Given the description of an element on the screen output the (x, y) to click on. 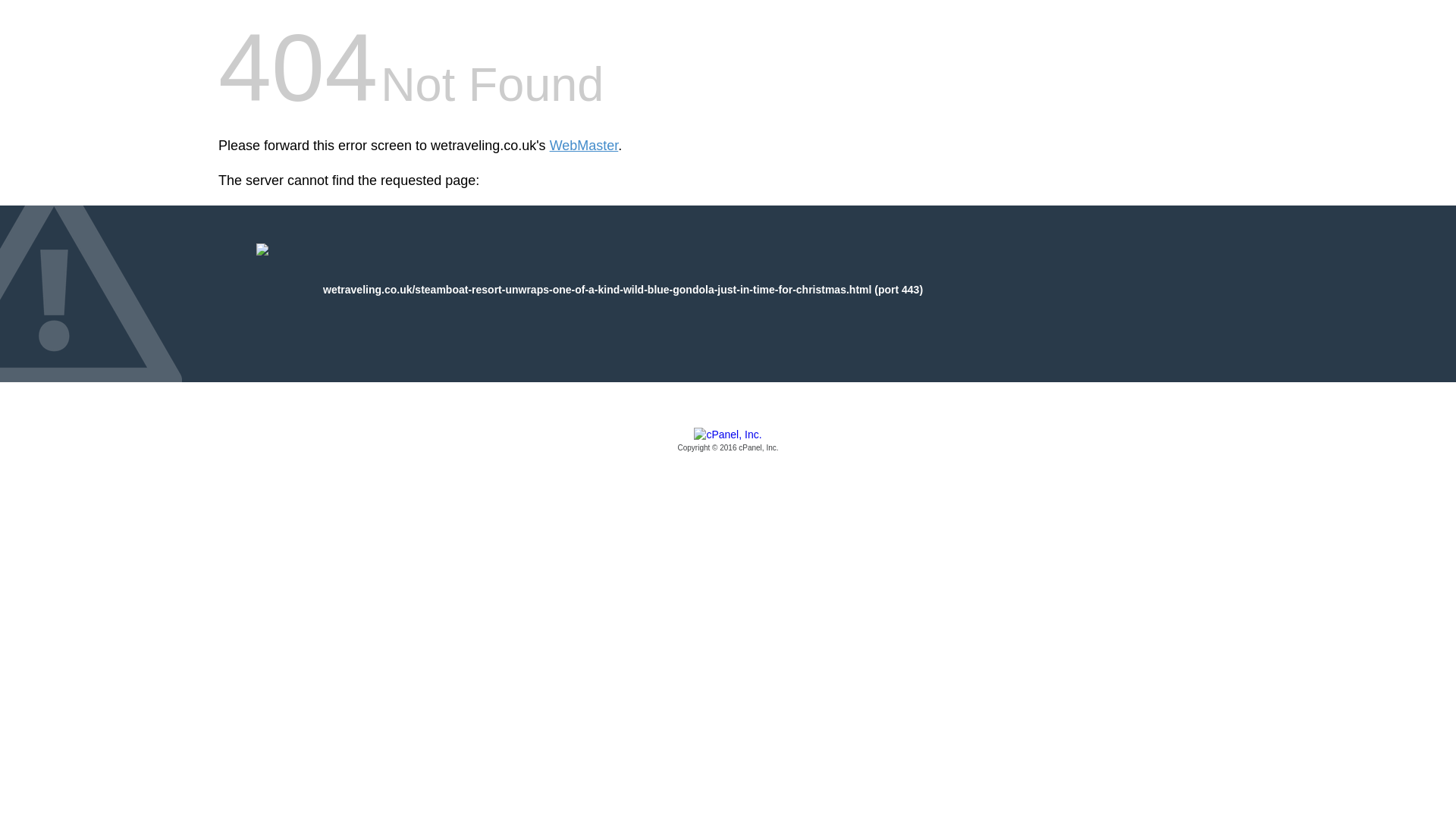
WebMaster (584, 145)
cPanel, Inc. (727, 440)
